Given the description of an element on the screen output the (x, y) to click on. 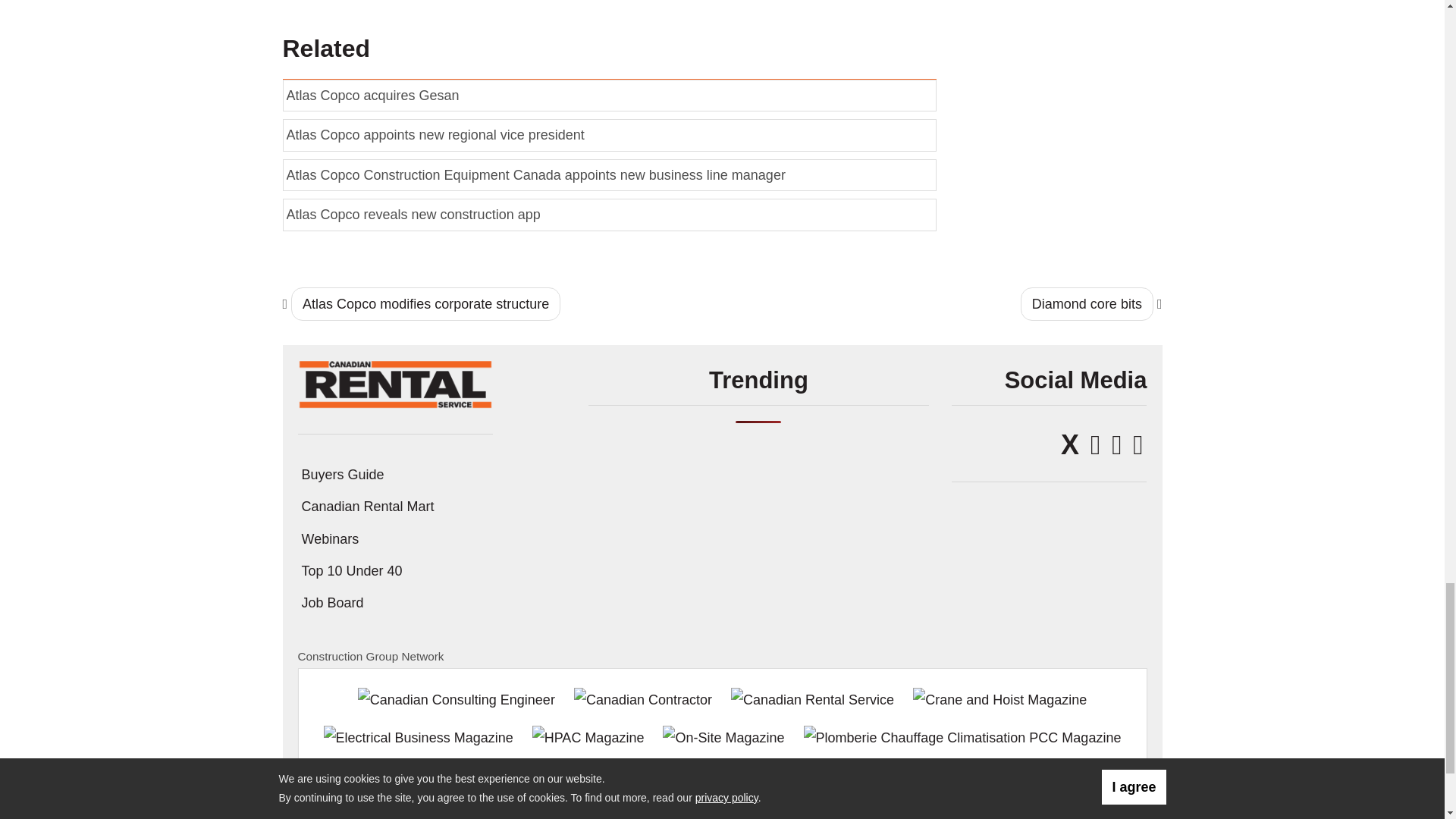
Canadian Rental Service (395, 383)
